Given the description of an element on the screen output the (x, y) to click on. 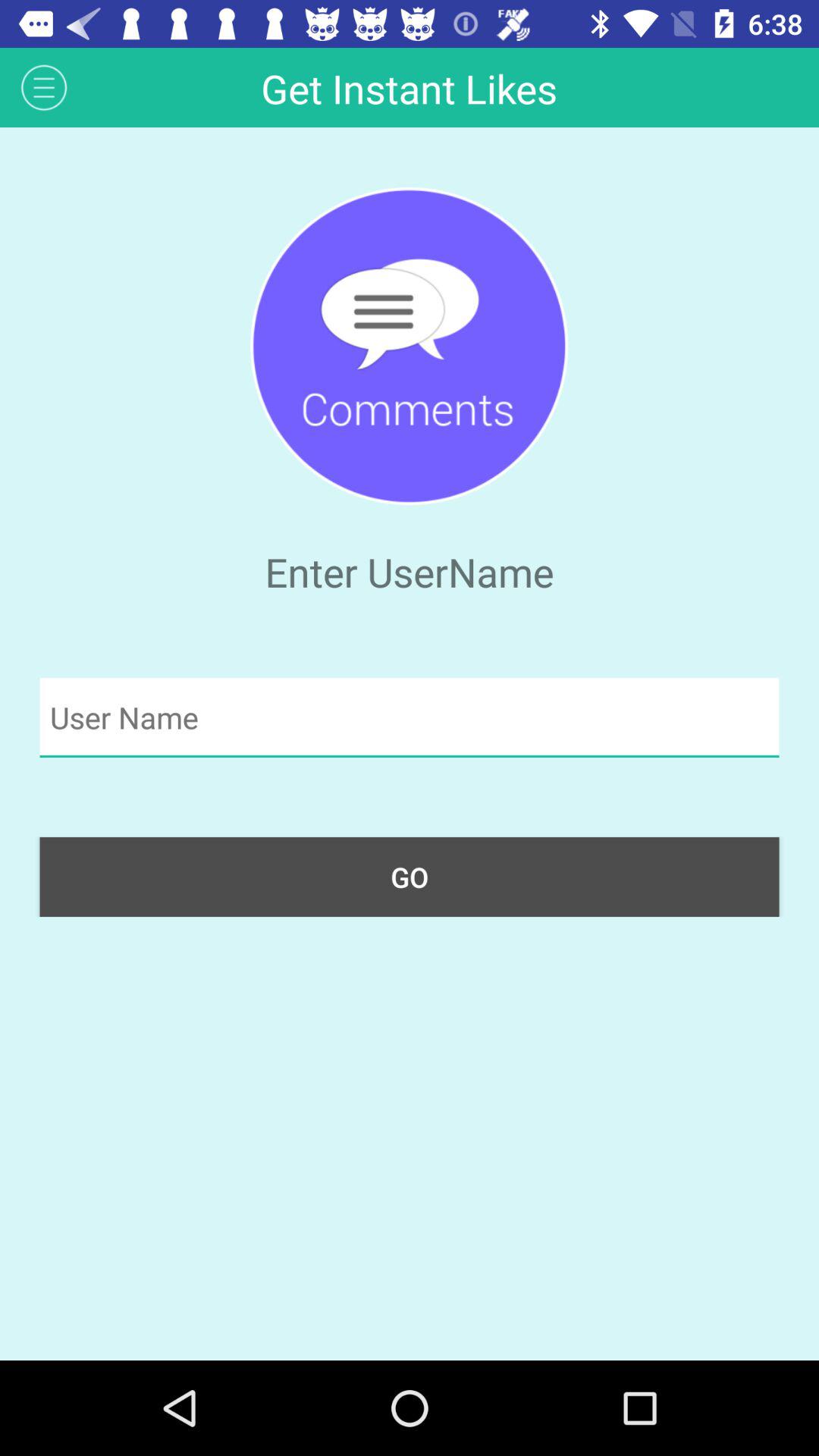
click the go item (409, 876)
